Given the description of an element on the screen output the (x, y) to click on. 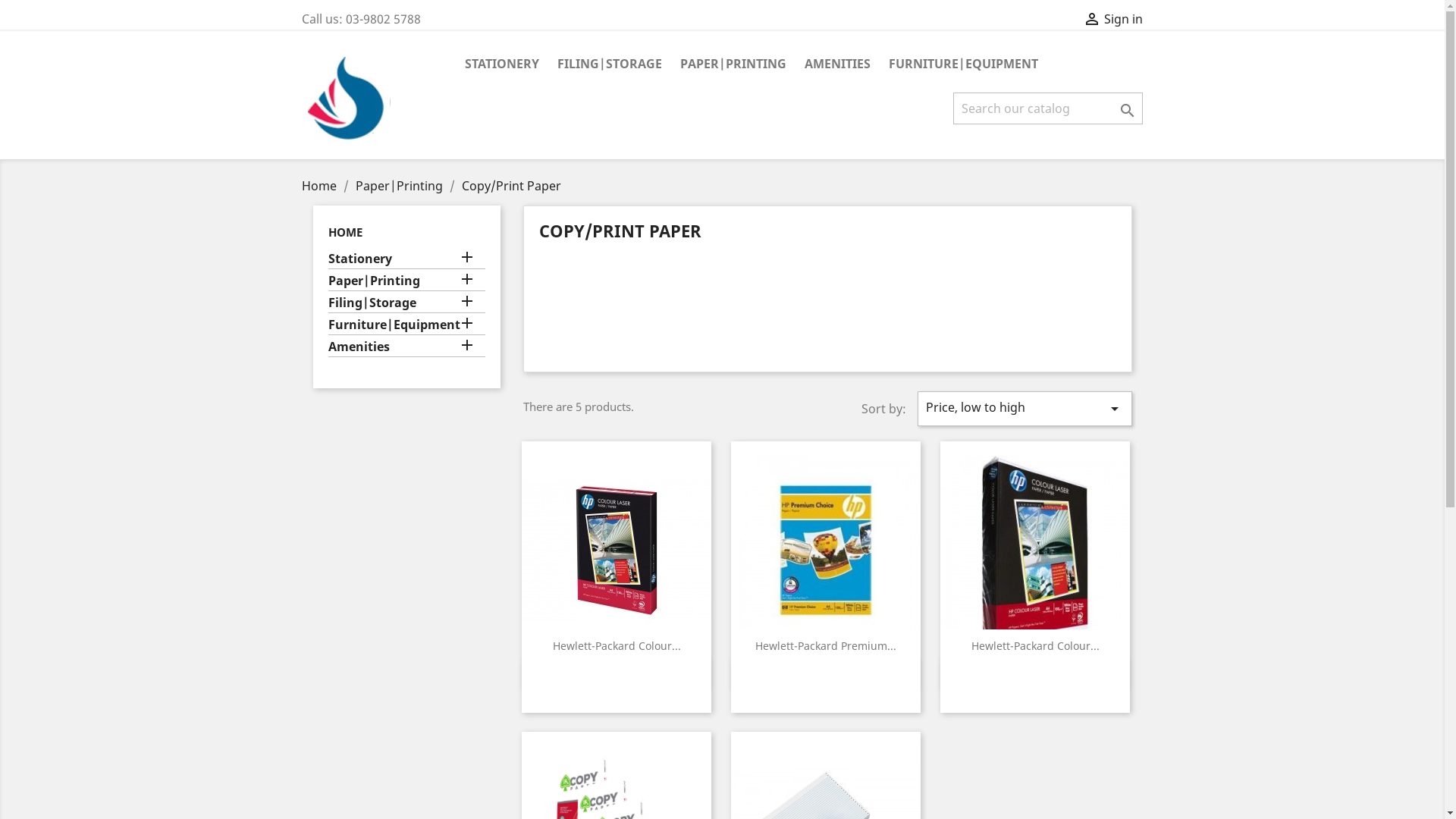
Amenities Element type: text (406, 347)
Filing|Storage Element type: text (406, 303)
FURNITURE|EQUIPMENT Element type: text (963, 64)
Copy/Print Paper Element type: text (510, 185)
Hewlett-Packard Colour... Element type: text (616, 645)
PAPER|PRINTING Element type: text (732, 64)
Hewlett-Packard Colour... Element type: text (1034, 645)
AMENITIES Element type: text (836, 64)
Hewlett-Packard Premium... Element type: text (825, 645)
Stationery Element type: text (406, 260)
STATIONERY Element type: text (501, 64)
Home Element type: text (320, 185)
Paper|Printing Element type: text (399, 185)
FILING|STORAGE Element type: text (608, 64)
Furniture|Equipment Element type: text (406, 325)
Paper|Printing Element type: text (406, 282)
HOME Element type: text (344, 231)
